Given the description of an element on the screen output the (x, y) to click on. 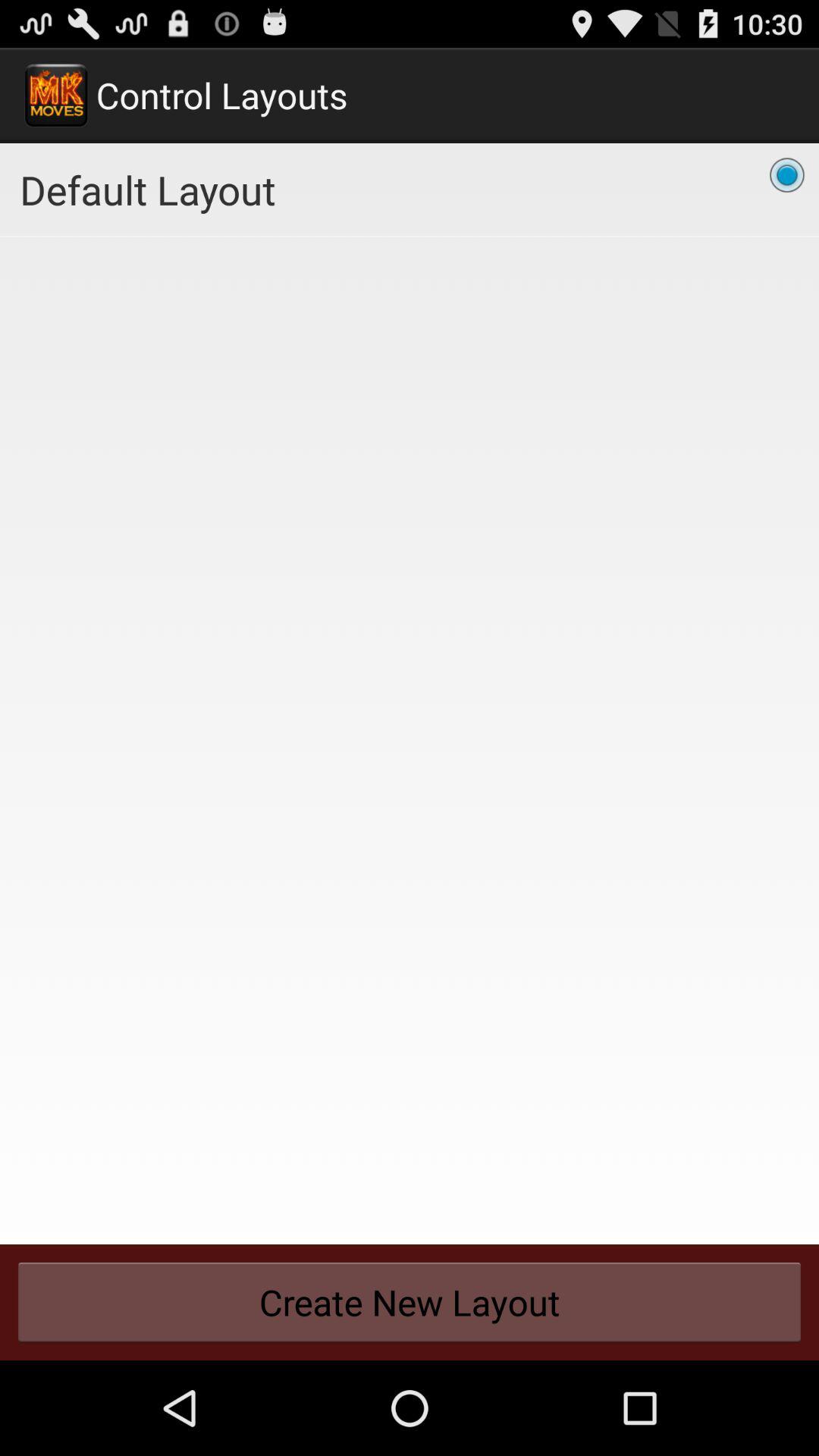
jump until the default layout icon (409, 189)
